Given the description of an element on the screen output the (x, y) to click on. 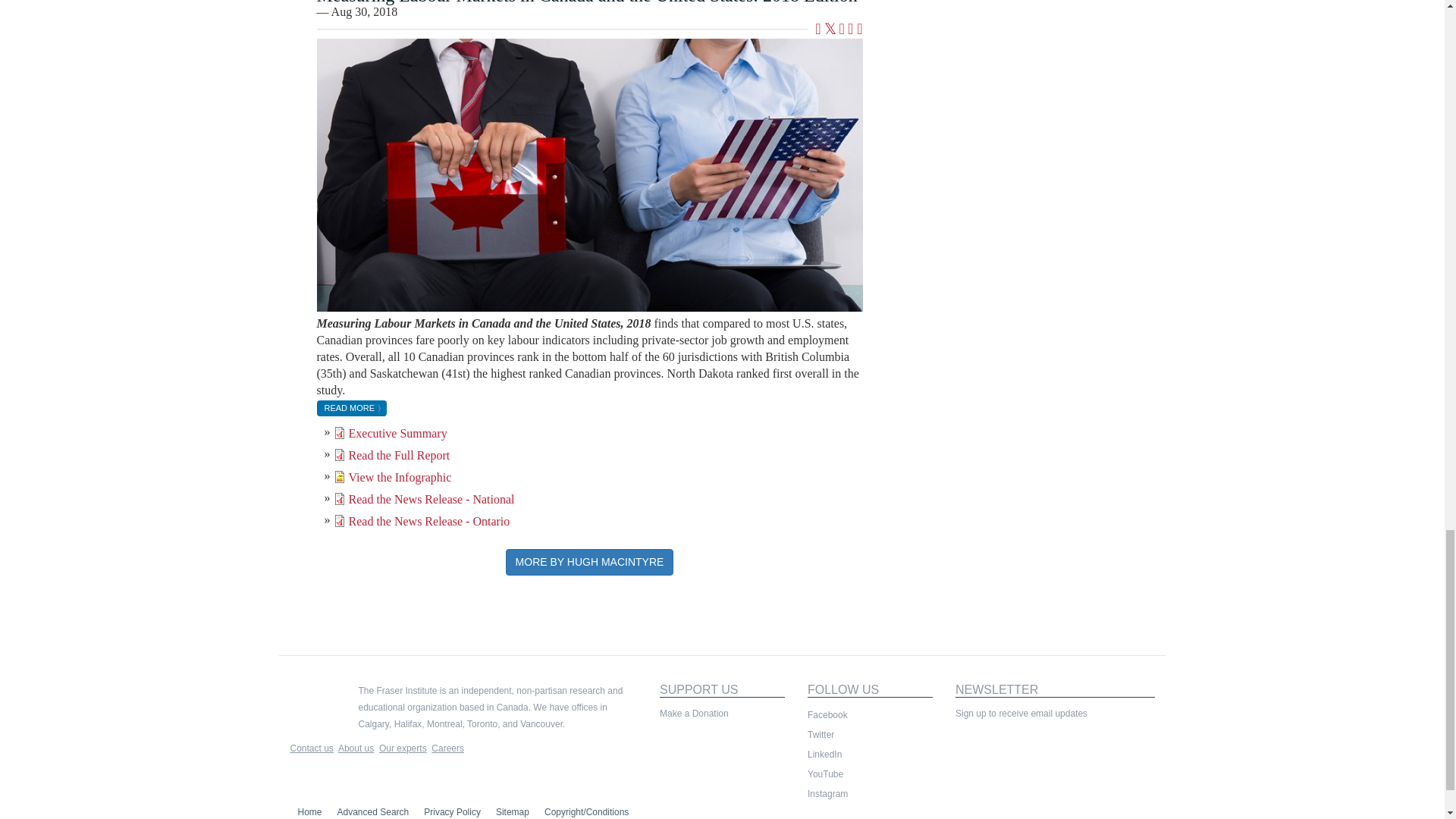
Display a printer-friendly version of this page. (859, 29)
